Given the description of an element on the screen output the (x, y) to click on. 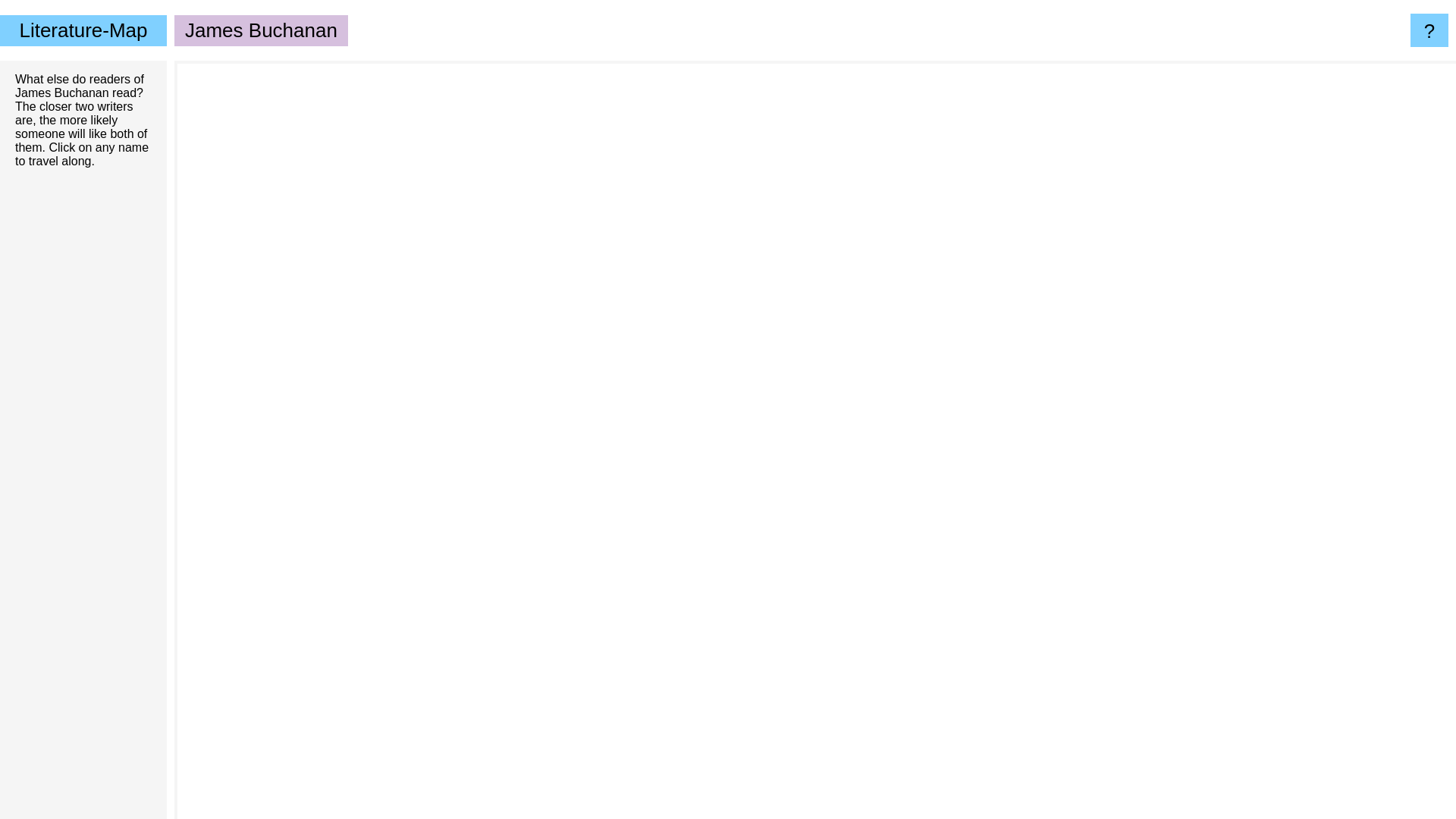
? (1429, 29)
Literature-Map (83, 30)
James Buchanan (61, 92)
